Given the description of an element on the screen output the (x, y) to click on. 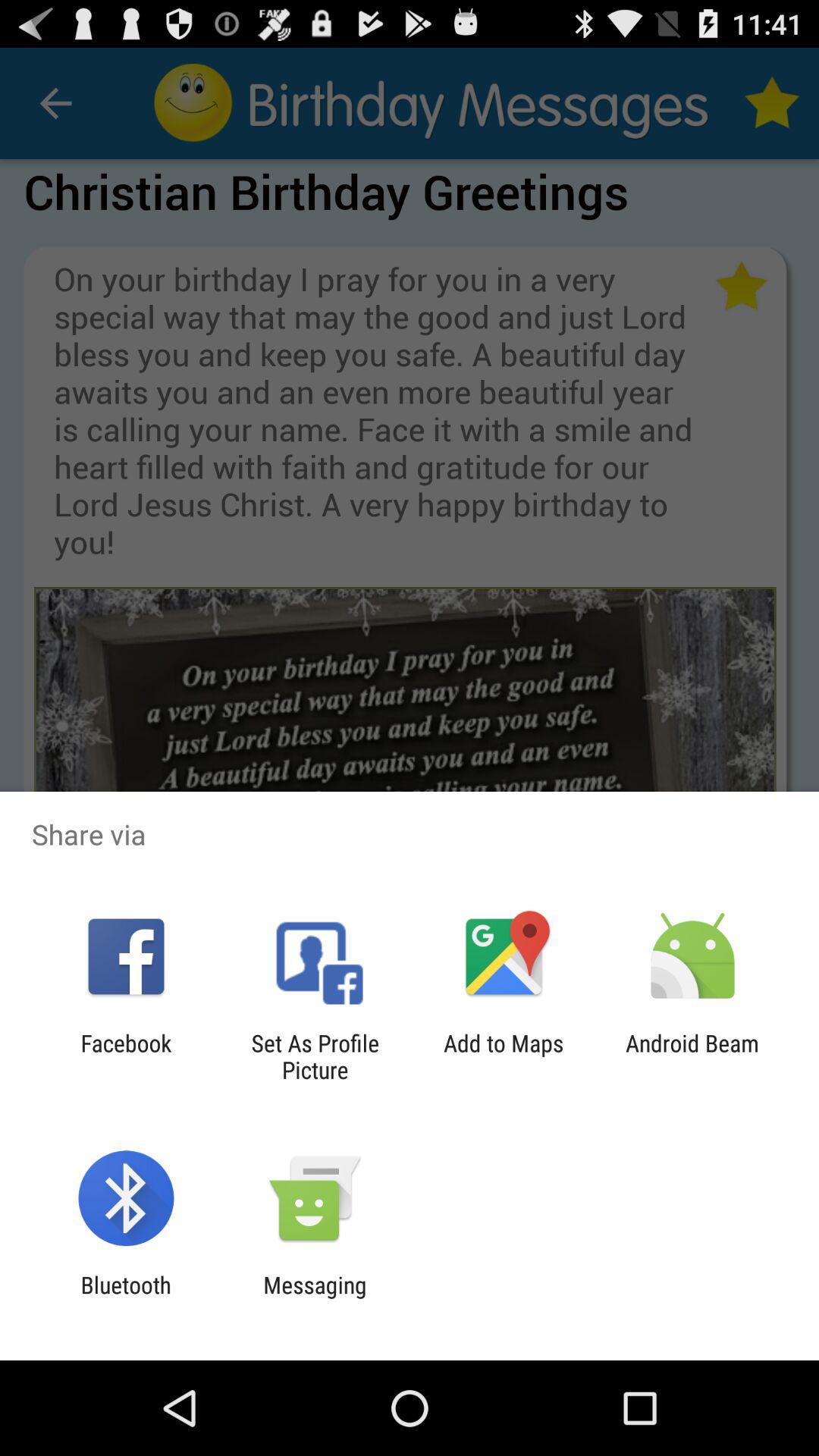
launch the android beam item (692, 1056)
